Given the description of an element on the screen output the (x, y) to click on. 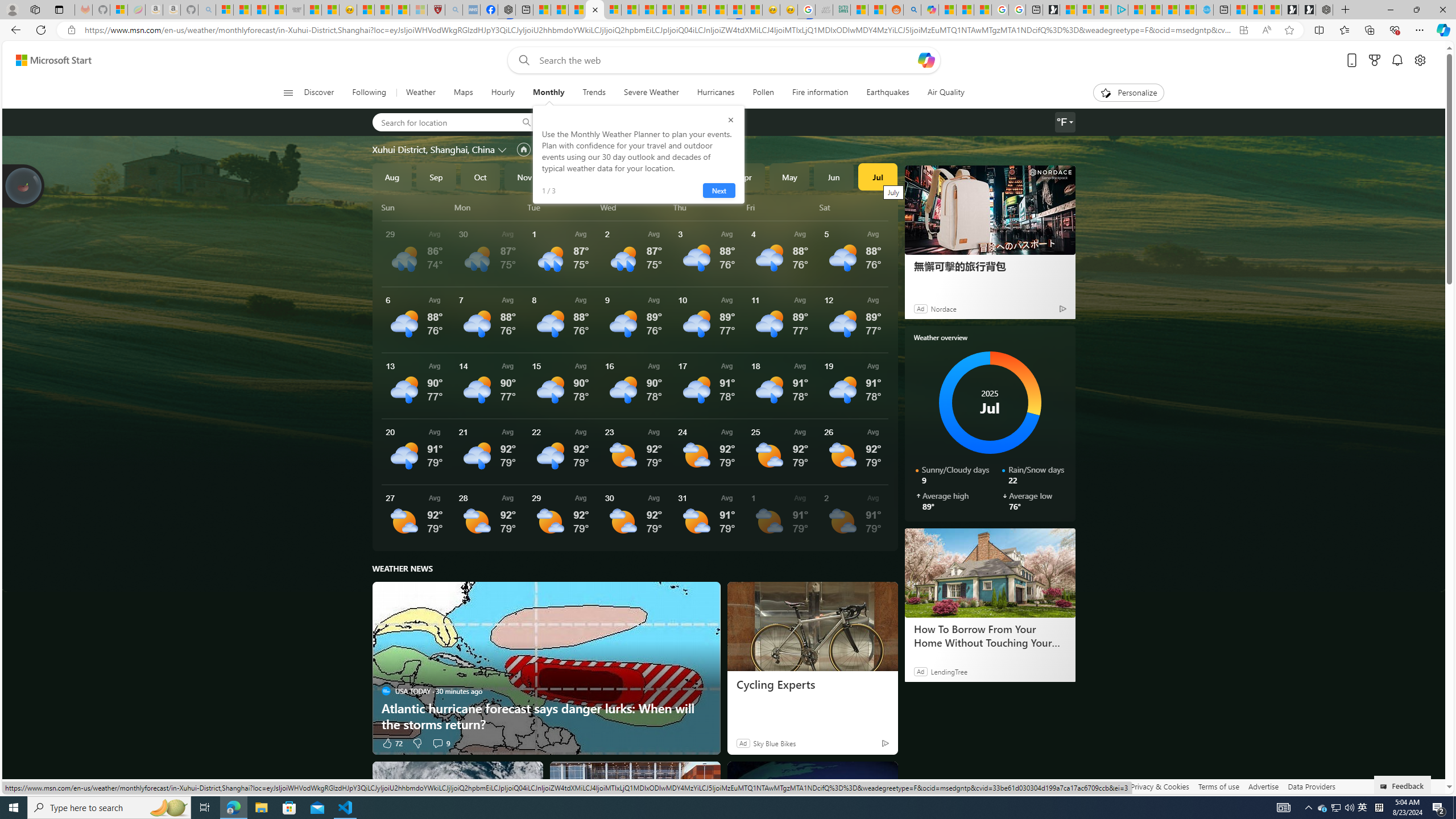
Join us in planting real trees to help our planet! (23, 185)
Pollen (763, 92)
Advertise (1263, 786)
Consumer Health Privacy (1080, 786)
Aug (391, 176)
Air Quality (945, 92)
Microsoft-Report a Concern to Bing (118, 9)
